Given the description of an element on the screen output the (x, y) to click on. 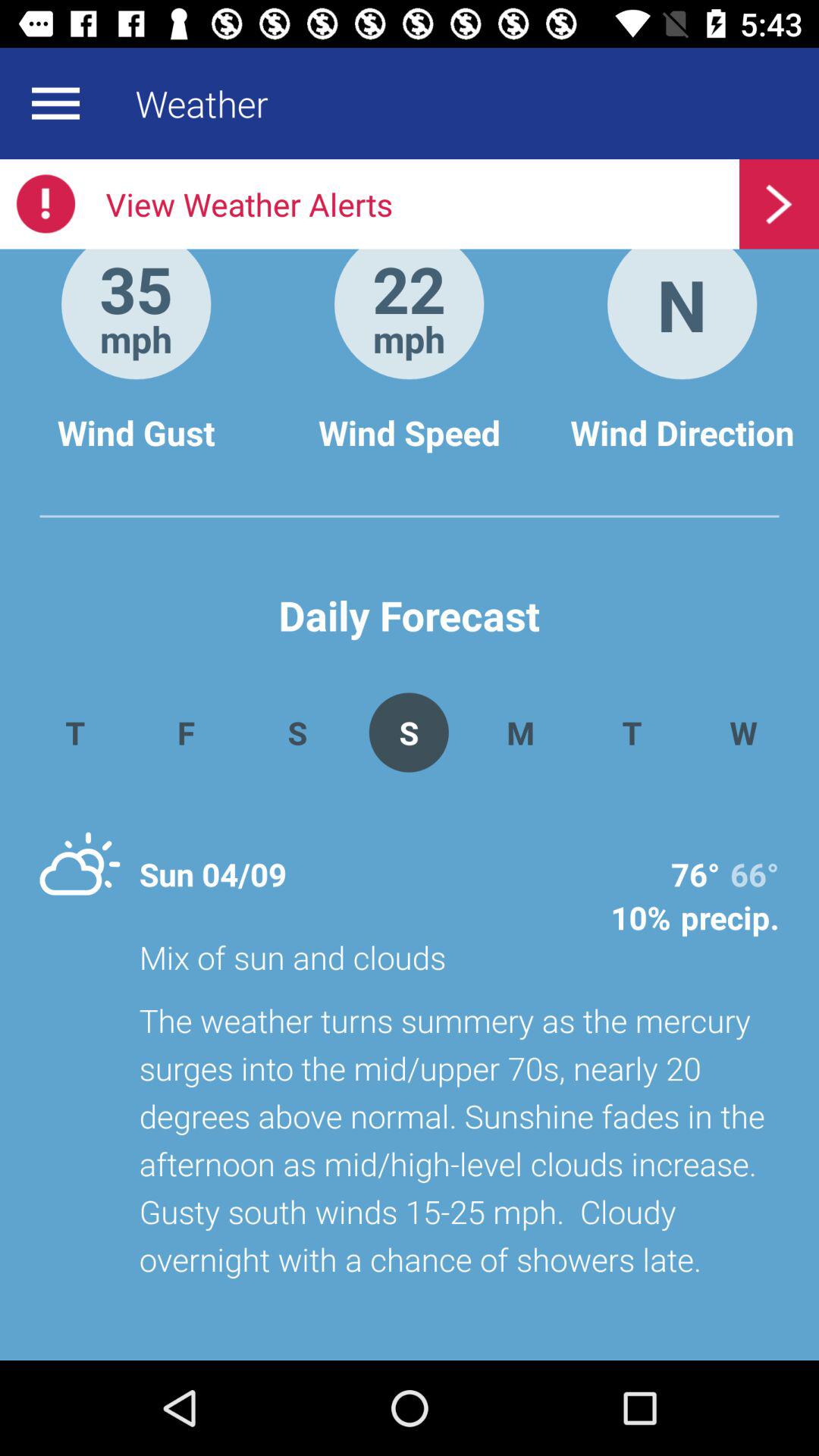
turn off the m item (520, 732)
